Given the description of an element on the screen output the (x, y) to click on. 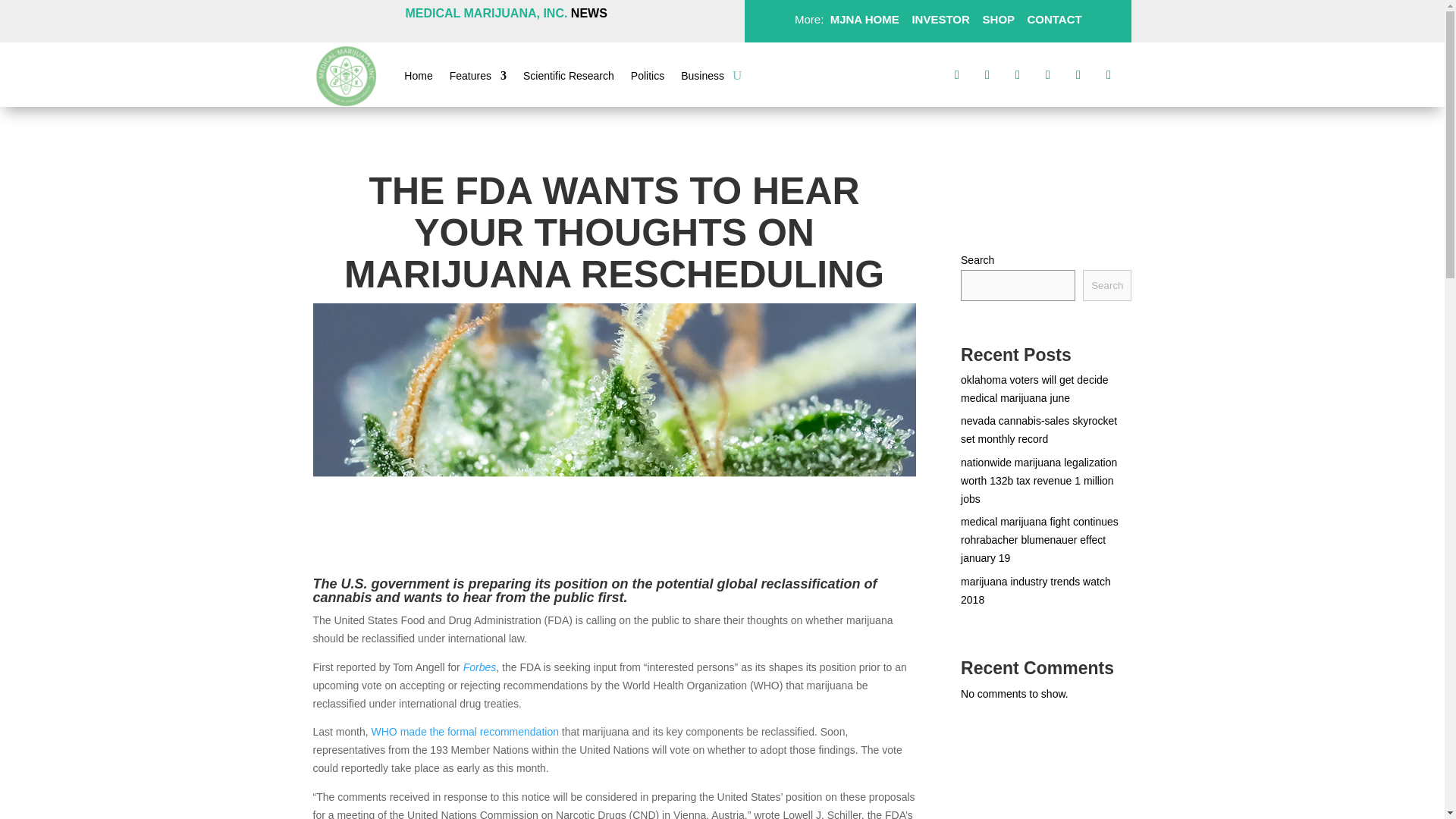
Follow on LinkedIn (1077, 74)
Follow on Instagram (1017, 74)
Follow on Twitter (986, 74)
Follow on Youtube (1108, 74)
Follow on Facebook (956, 74)
Home (418, 78)
Features (477, 78)
Scientific Research (568, 78)
Politics (646, 78)
MJNA HOME (862, 19)
